Given the description of an element on the screen output the (x, y) to click on. 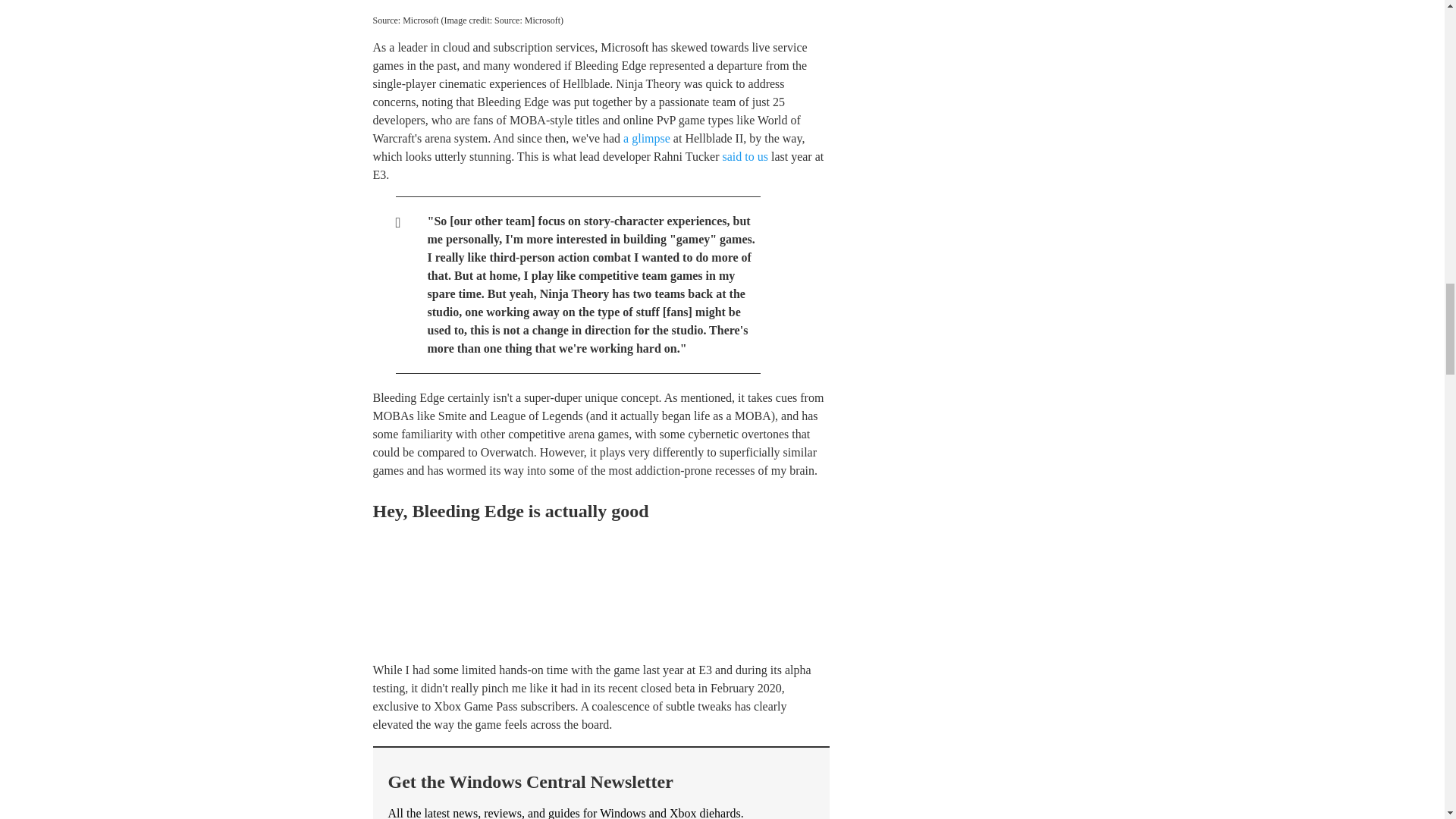
said to us (744, 155)
a glimpse (646, 137)
